Given the description of an element on the screen output the (x, y) to click on. 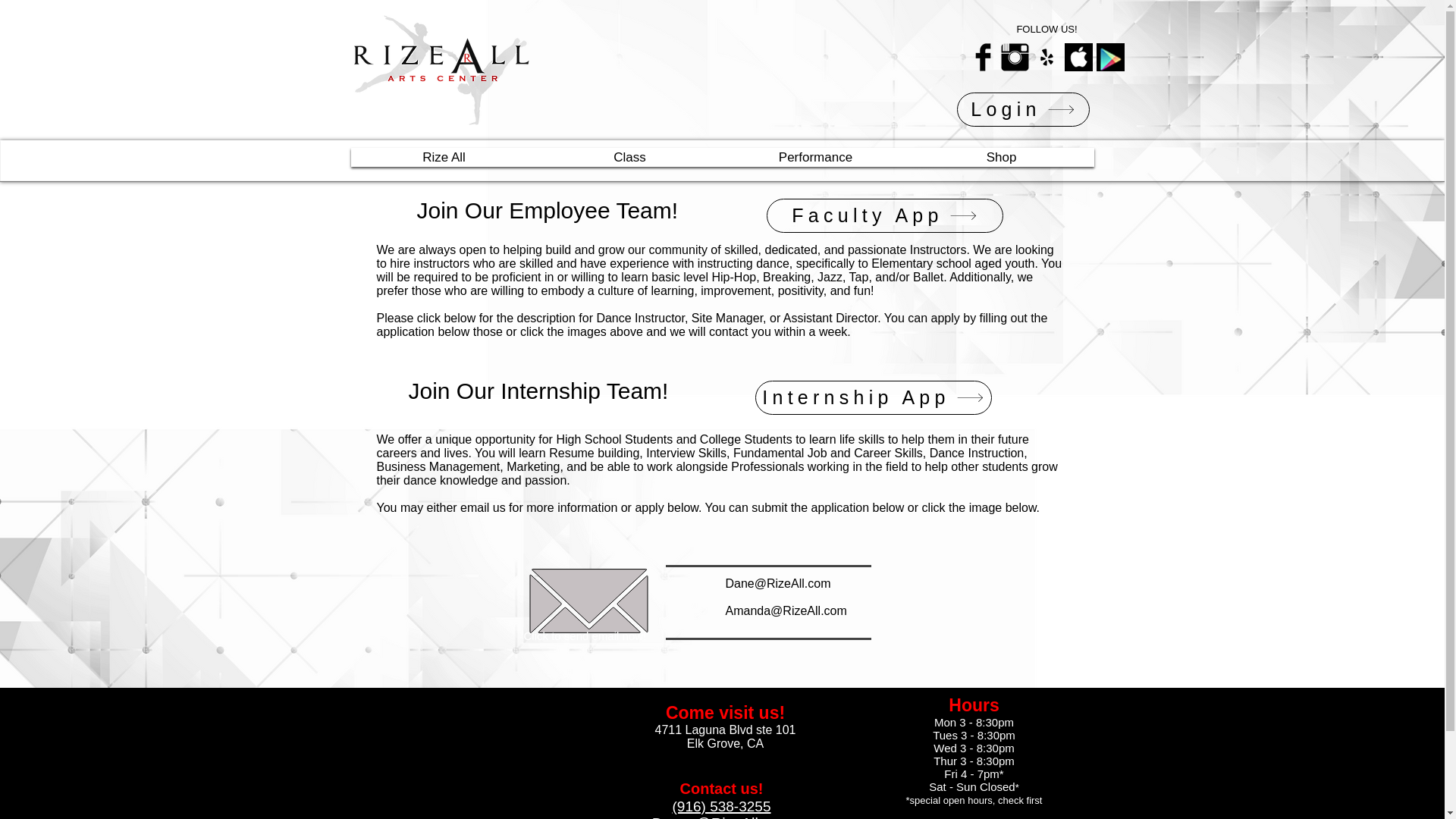
Rize All (444, 157)
Shop (1000, 157)
Class (629, 157)
Performance (815, 157)
Internship App (873, 397)
Login (1022, 109)
Google Maps (459, 757)
Faculty App (884, 215)
